Given the description of an element on the screen output the (x, y) to click on. 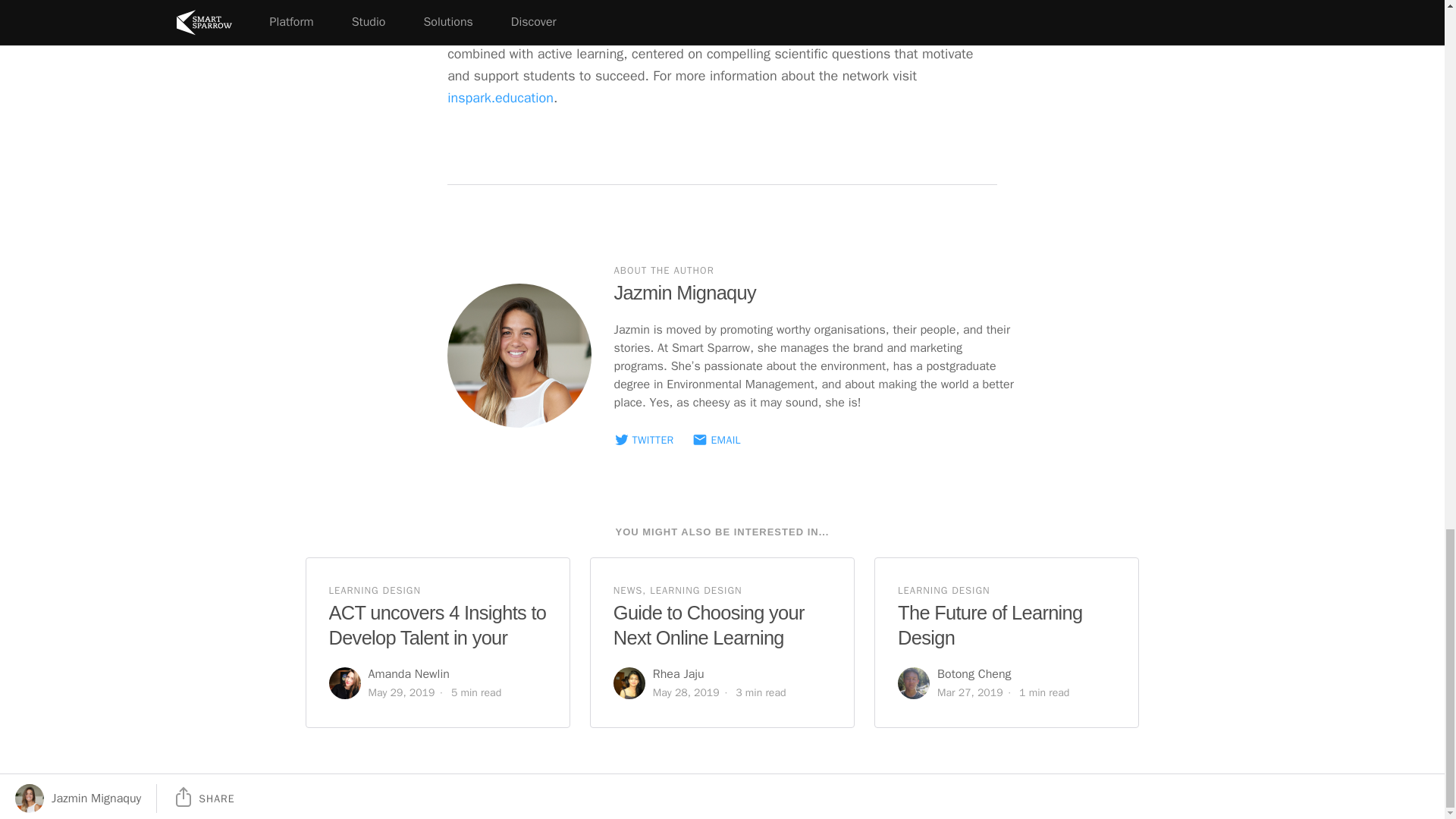
TWITTER (644, 440)
EMAIL (717, 440)
LEARNING DESIGN (944, 590)
new digital courseware (514, 31)
Estimated read time (475, 692)
The Future of Learning Design (989, 625)
Estimated read time (760, 692)
LEARNING DESIGN (375, 590)
inspark.education (499, 98)
NEWS, LEARNING DESIGN (677, 590)
Estimated read time (1043, 692)
Guide to Choosing your Next Online Learning Platform (708, 637)
